Given the description of an element on the screen output the (x, y) to click on. 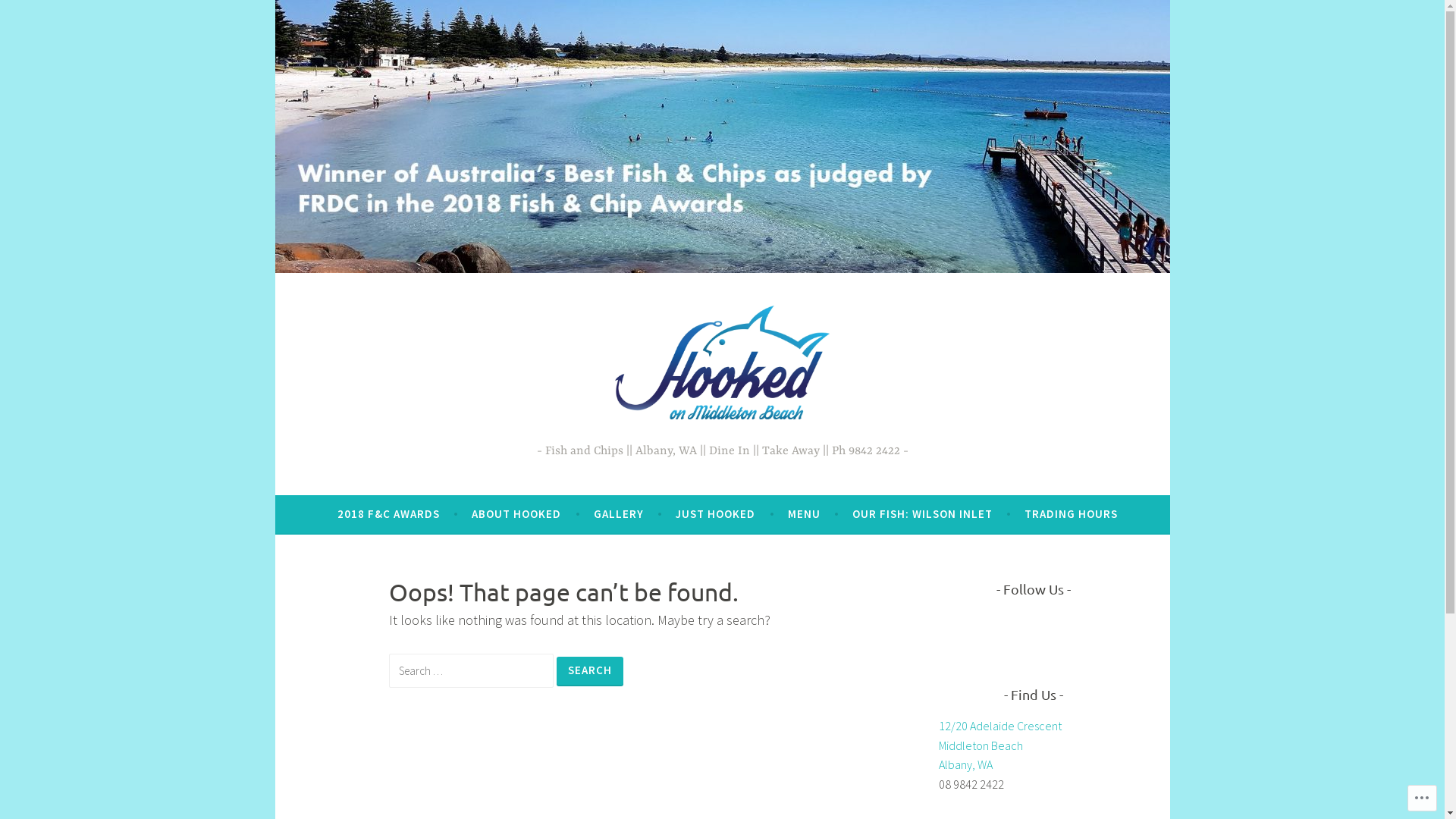
OUR FISH: WILSON INLET Element type: text (922, 513)
Search Element type: text (589, 671)
MENU Element type: text (803, 513)
TRADING HOURS Element type: text (1070, 513)
12/20 Adelaide Crescent
Middleton Beach
Albany, WA Element type: text (999, 744)
GALLERY Element type: text (618, 513)
ABOUT HOOKED Element type: text (516, 513)
JUST HOOKED Element type: text (715, 513)
2018 F&C AWARDS Element type: text (388, 513)
